Given the description of an element on the screen output the (x, y) to click on. 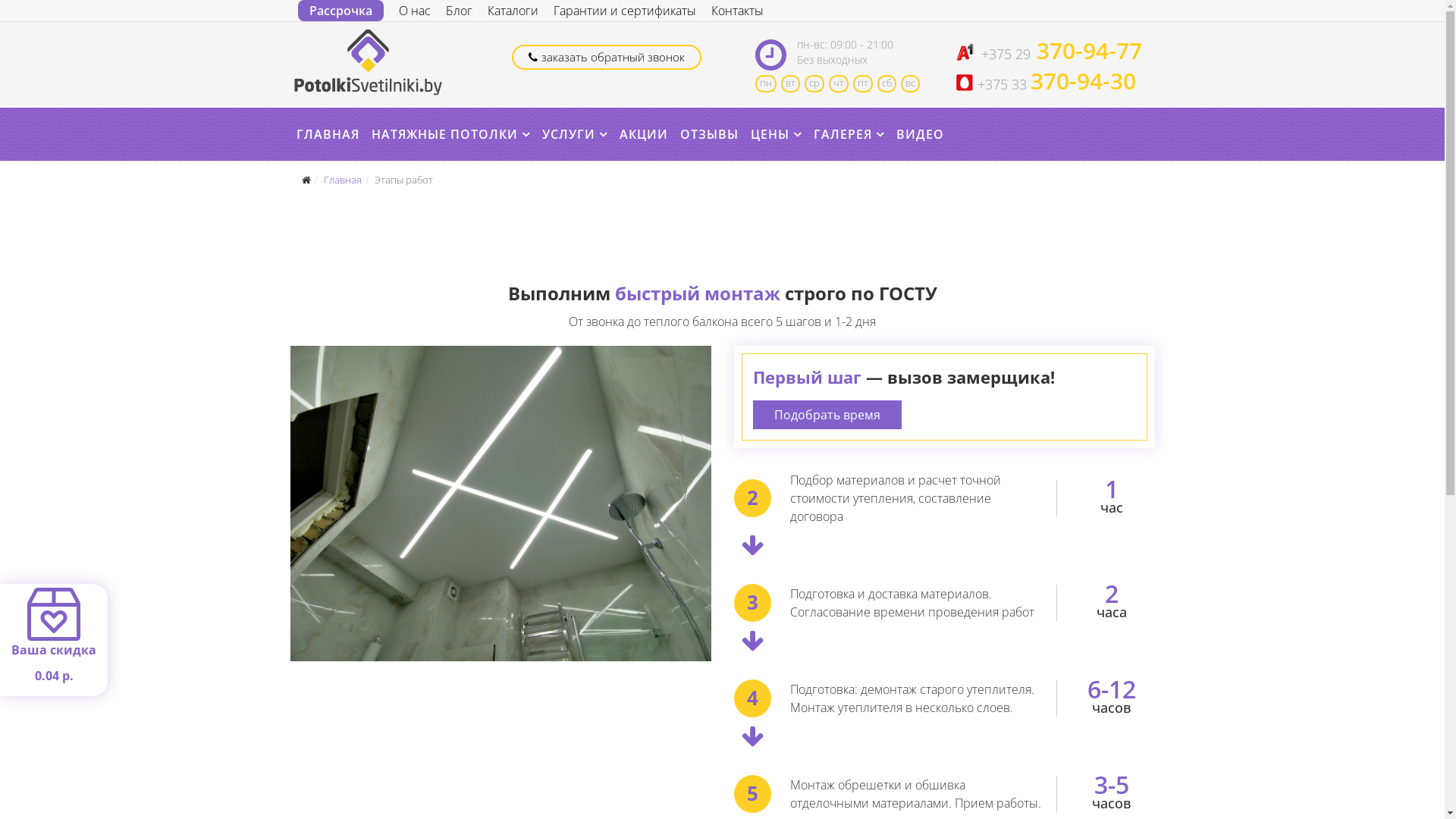
370-94-30 Element type: text (1080, 84)
370-94-77 Element type: text (1086, 53)
